Given the description of an element on the screen output the (x, y) to click on. 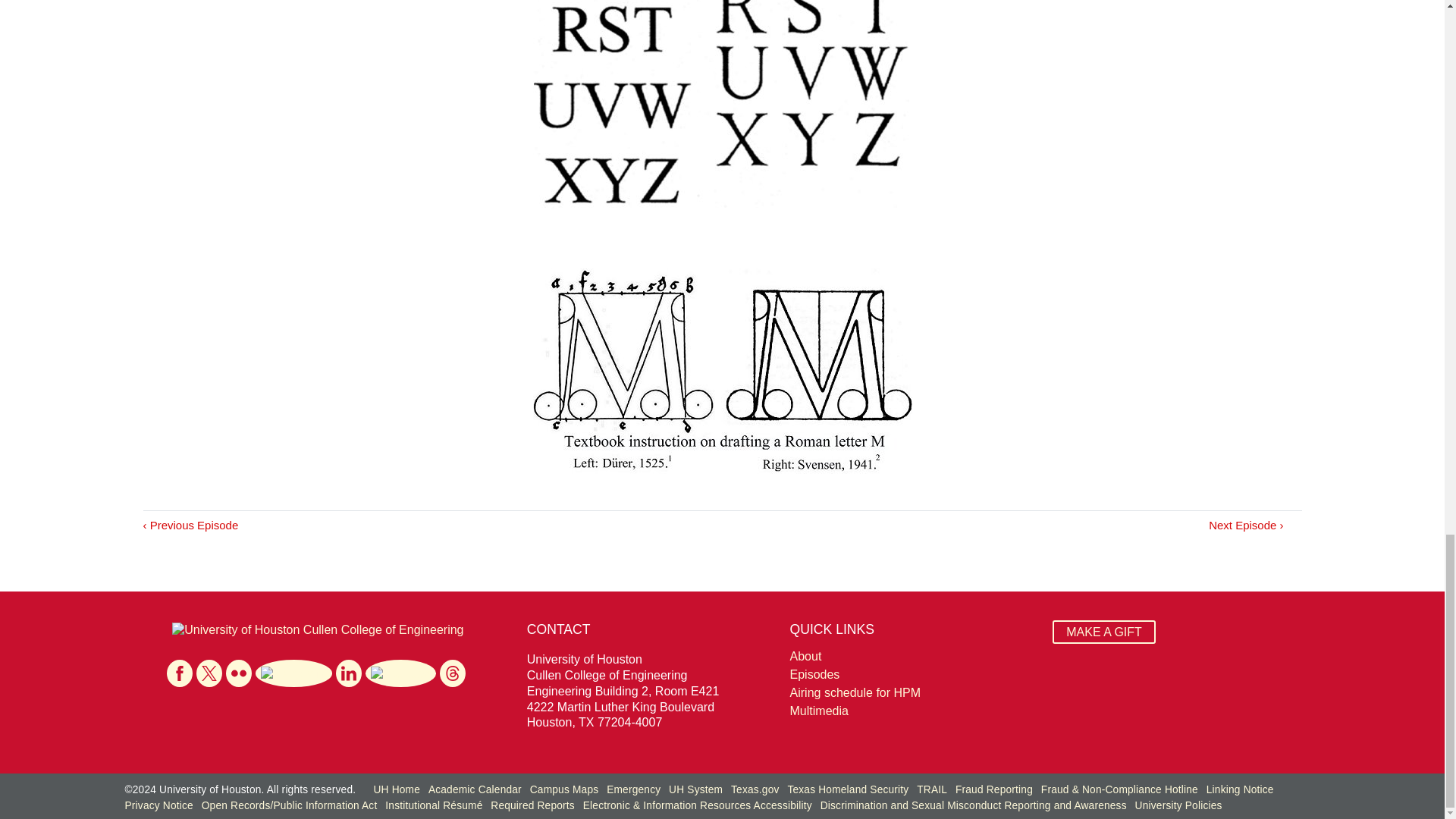
Episodes (913, 674)
Academic Calendar (474, 789)
Campus Maps (563, 789)
Airing schedule for HPM (913, 692)
UH Home (396, 789)
Multimedia (913, 710)
About (913, 656)
